Given the description of an element on the screen output the (x, y) to click on. 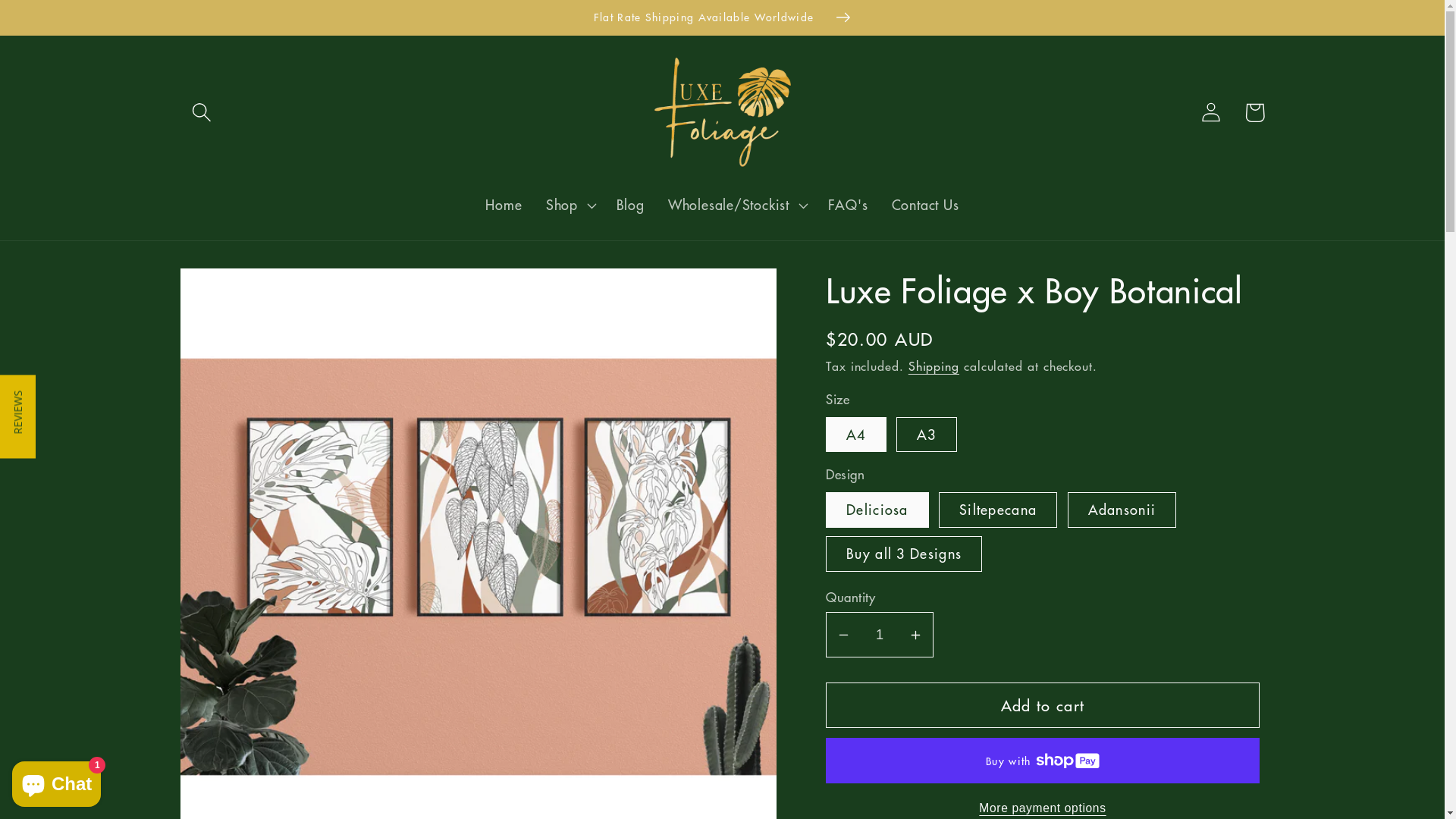
Increase quantity for Luxe Foliage x Boy Botanical Element type: text (915, 634)
Blog Element type: text (629, 205)
Add to cart Element type: text (1042, 705)
Shipping Element type: text (933, 365)
FAQ's Element type: text (847, 205)
Shopify online store chat Element type: hover (56, 780)
Decrease quantity for Luxe Foliage x Boy Botanical Element type: text (843, 634)
Contact Us Element type: text (924, 205)
Log in Element type: text (1211, 112)
More payment options Element type: text (1042, 808)
Skip to product information Element type: text (238, 290)
Cart Element type: text (1254, 112)
Home Element type: text (503, 205)
